Given the description of an element on the screen output the (x, y) to click on. 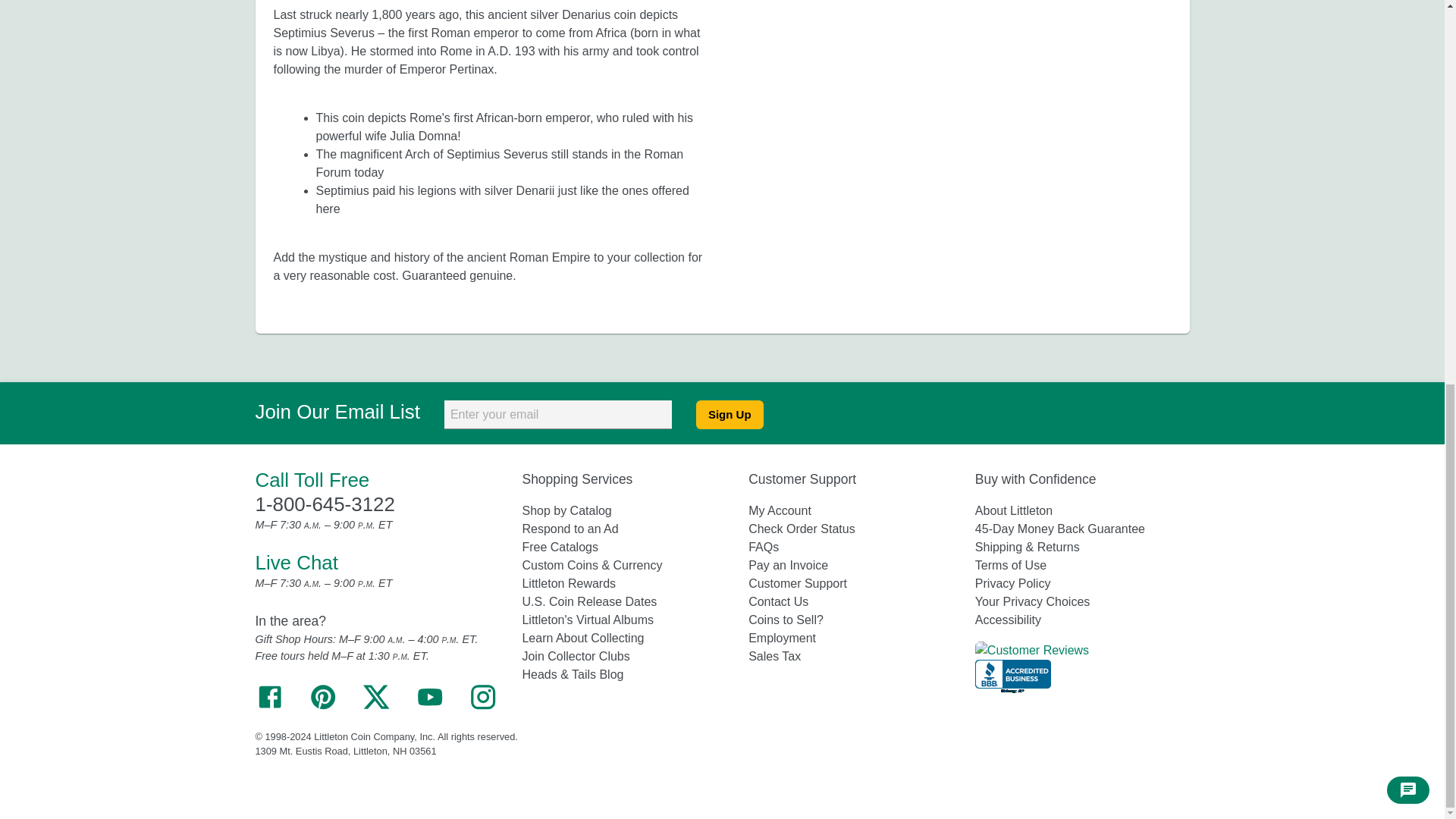
1-800-645-3122 (324, 504)
Enter your email (557, 414)
Live Chat (295, 562)
Sign Up (728, 414)
Littleton Coin Company on Facebook (268, 707)
Littleton Coin Company on Twitter (375, 707)
Littleton Coin Company on YouTube (429, 707)
Littleton Coin Company on Pinterest (322, 707)
Littleton Coin Company on Instagram (482, 707)
